Given the description of an element on the screen output the (x, y) to click on. 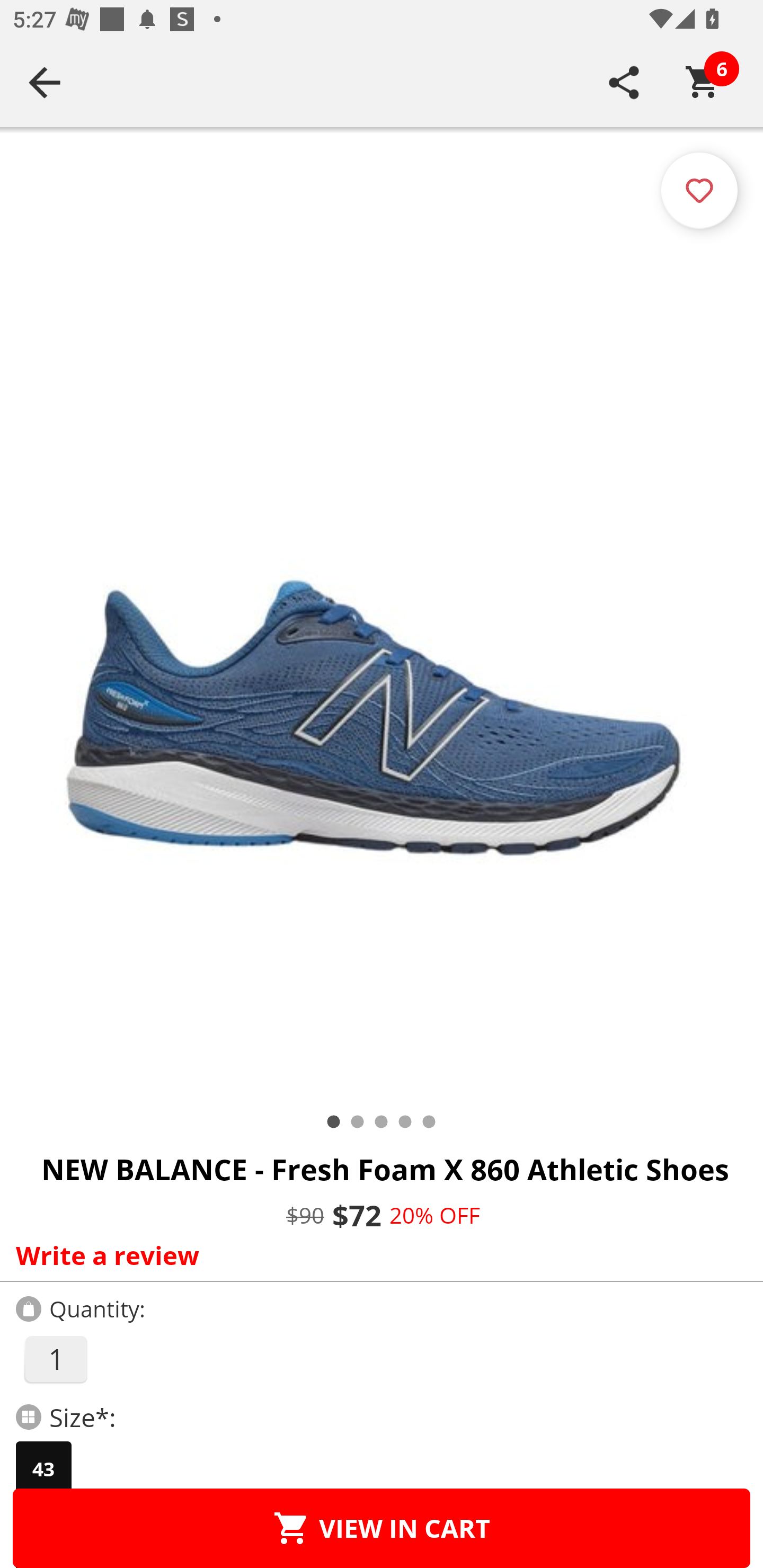
Navigate up (44, 82)
SHARE (623, 82)
Cart (703, 81)
Write a review (377, 1255)
1 (55, 1358)
43 (43, 1468)
VIEW IN CART (381, 1528)
